Given the description of an element on the screen output the (x, y) to click on. 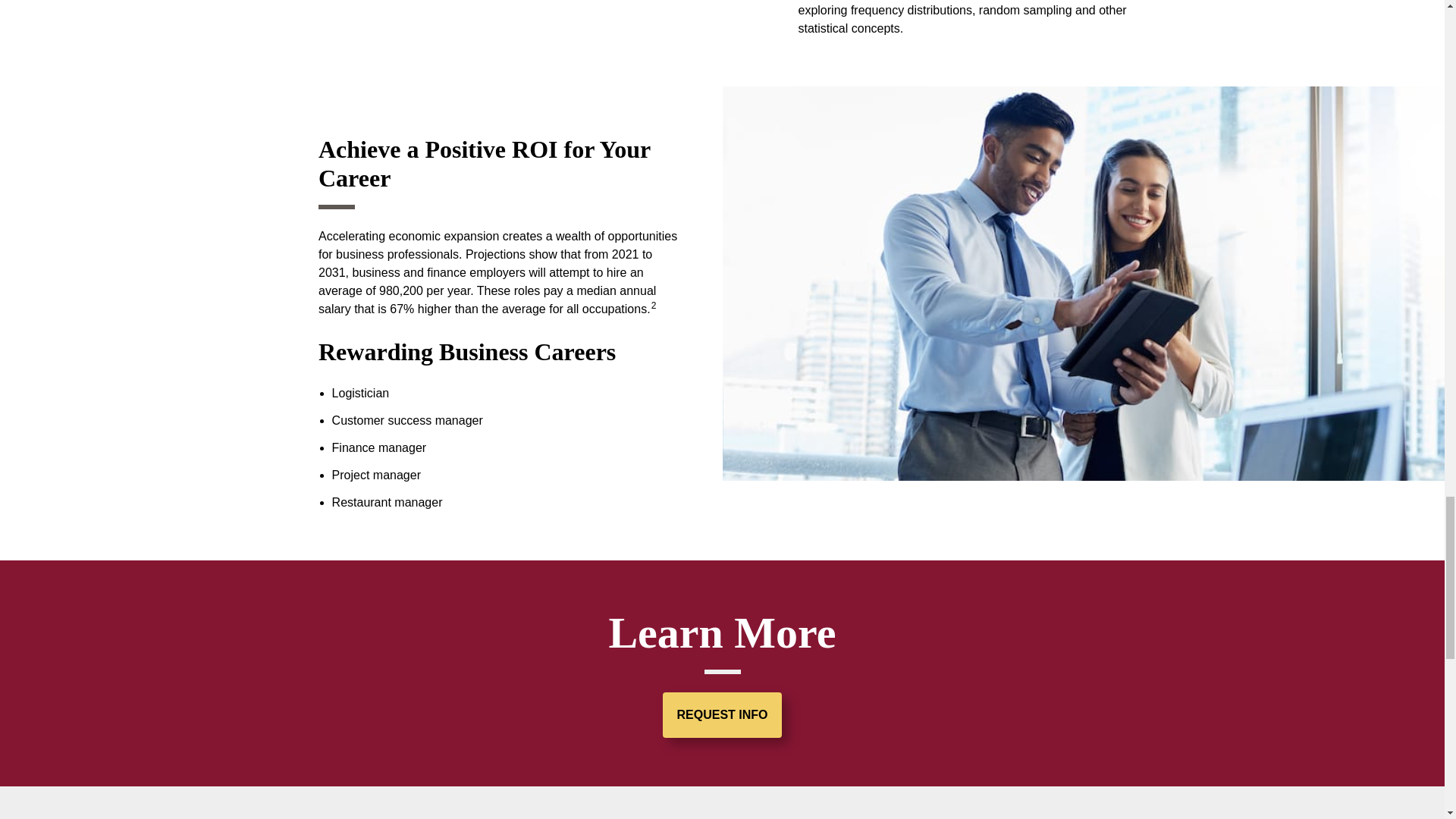
REQUEST INFO (721, 714)
